Given the description of an element on the screen output the (x, y) to click on. 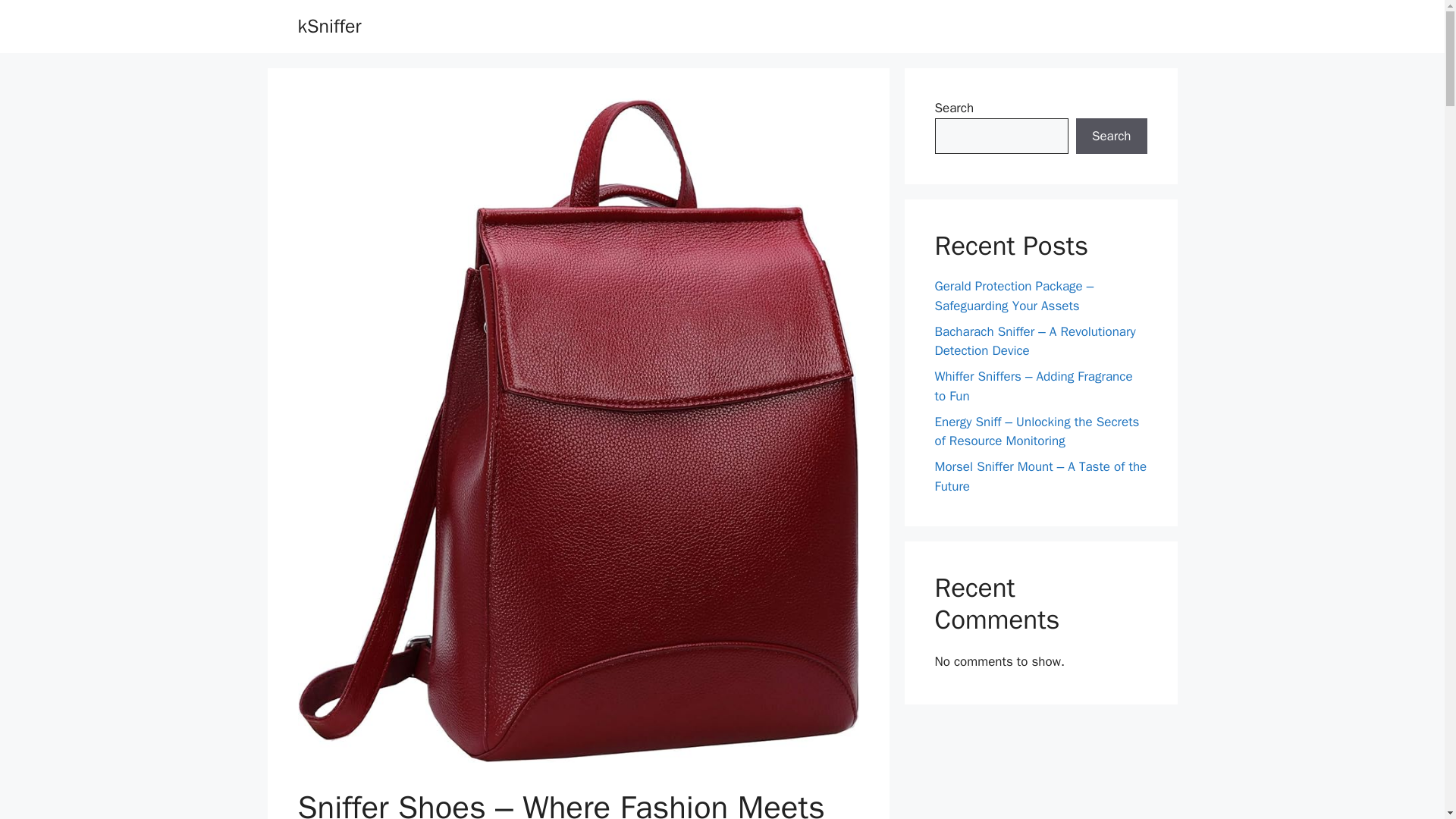
Search (1111, 135)
kSniffer (329, 25)
